Given the description of an element on the screen output the (x, y) to click on. 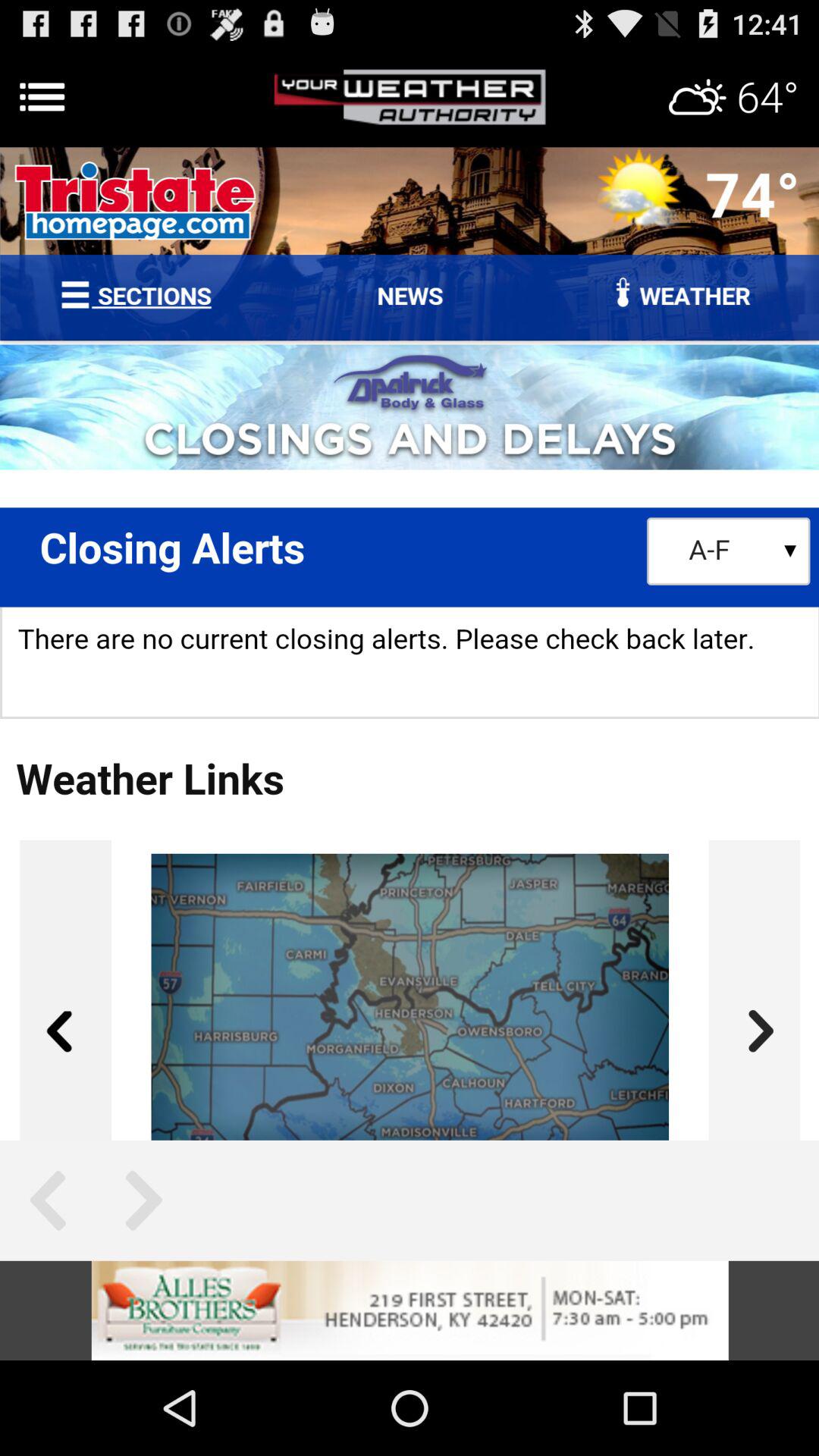
header option (409, 97)
